Given the description of an element on the screen output the (x, y) to click on. 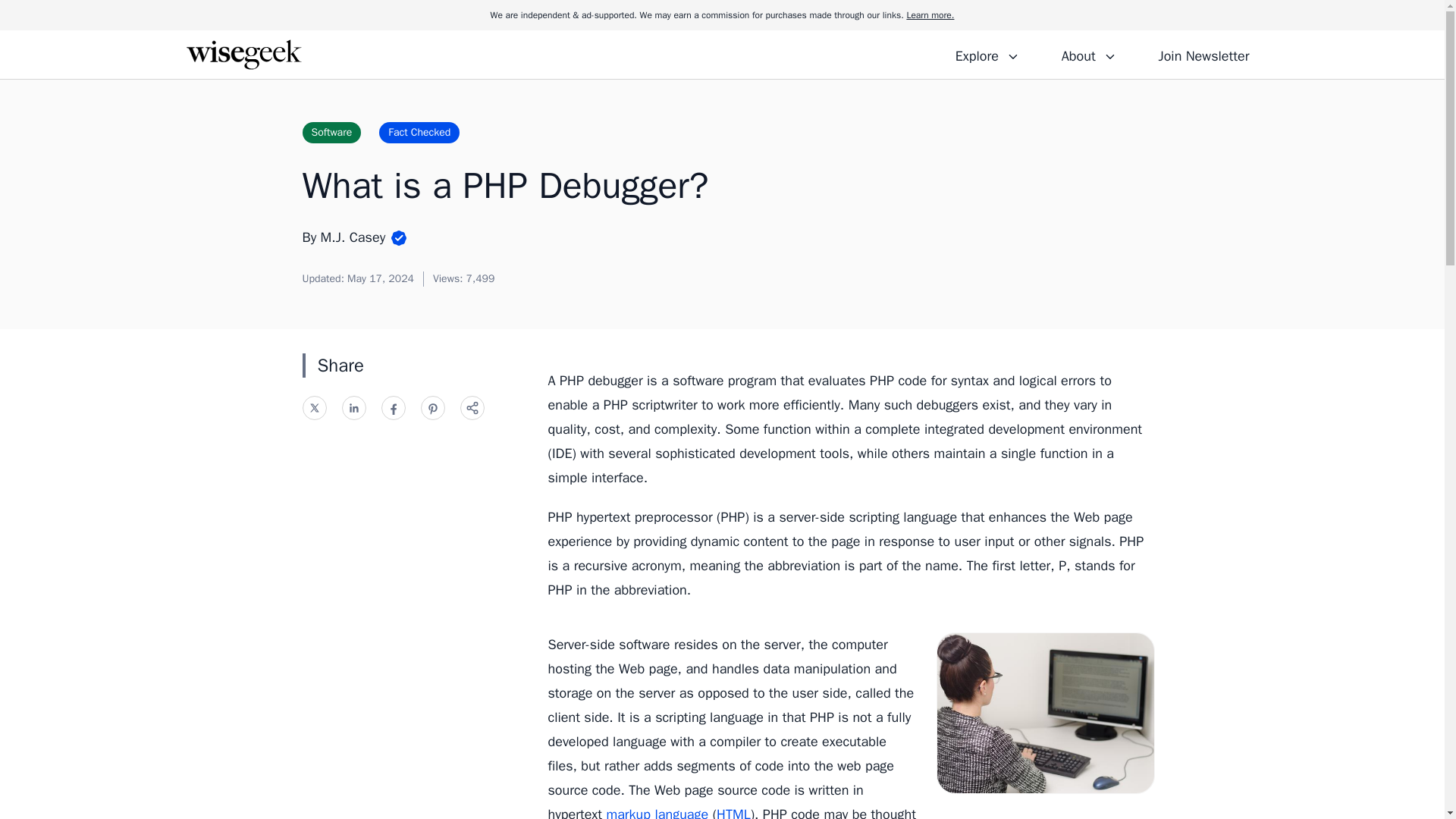
HTML (733, 812)
Learn more. (929, 15)
markup language (656, 812)
Fact Checked (419, 132)
Software (331, 132)
About (1088, 54)
Join Newsletter (1202, 54)
Explore (986, 54)
